Given the description of an element on the screen output the (x, y) to click on. 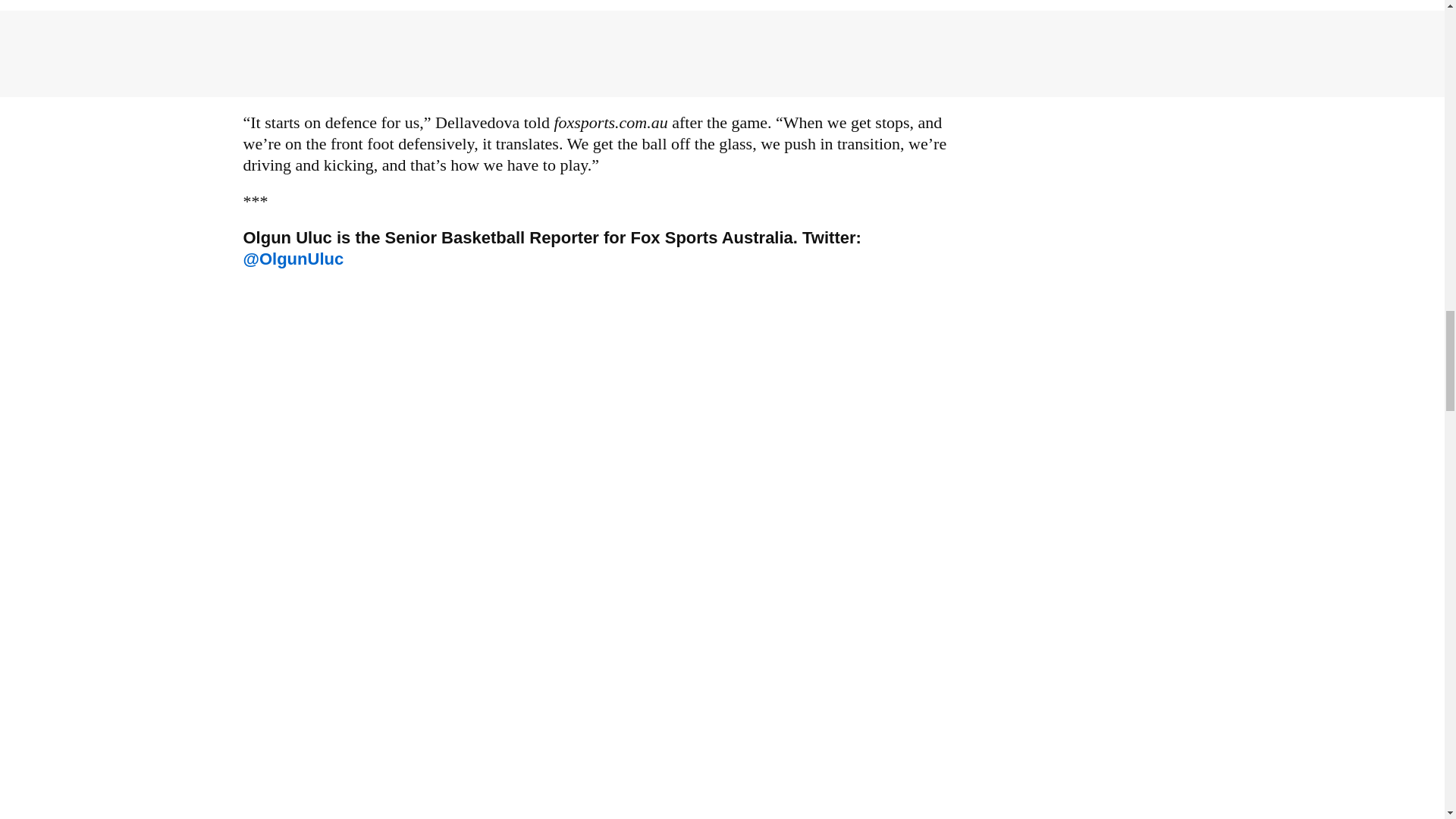
Newsletter (599, 760)
